Given the description of an element on the screen output the (x, y) to click on. 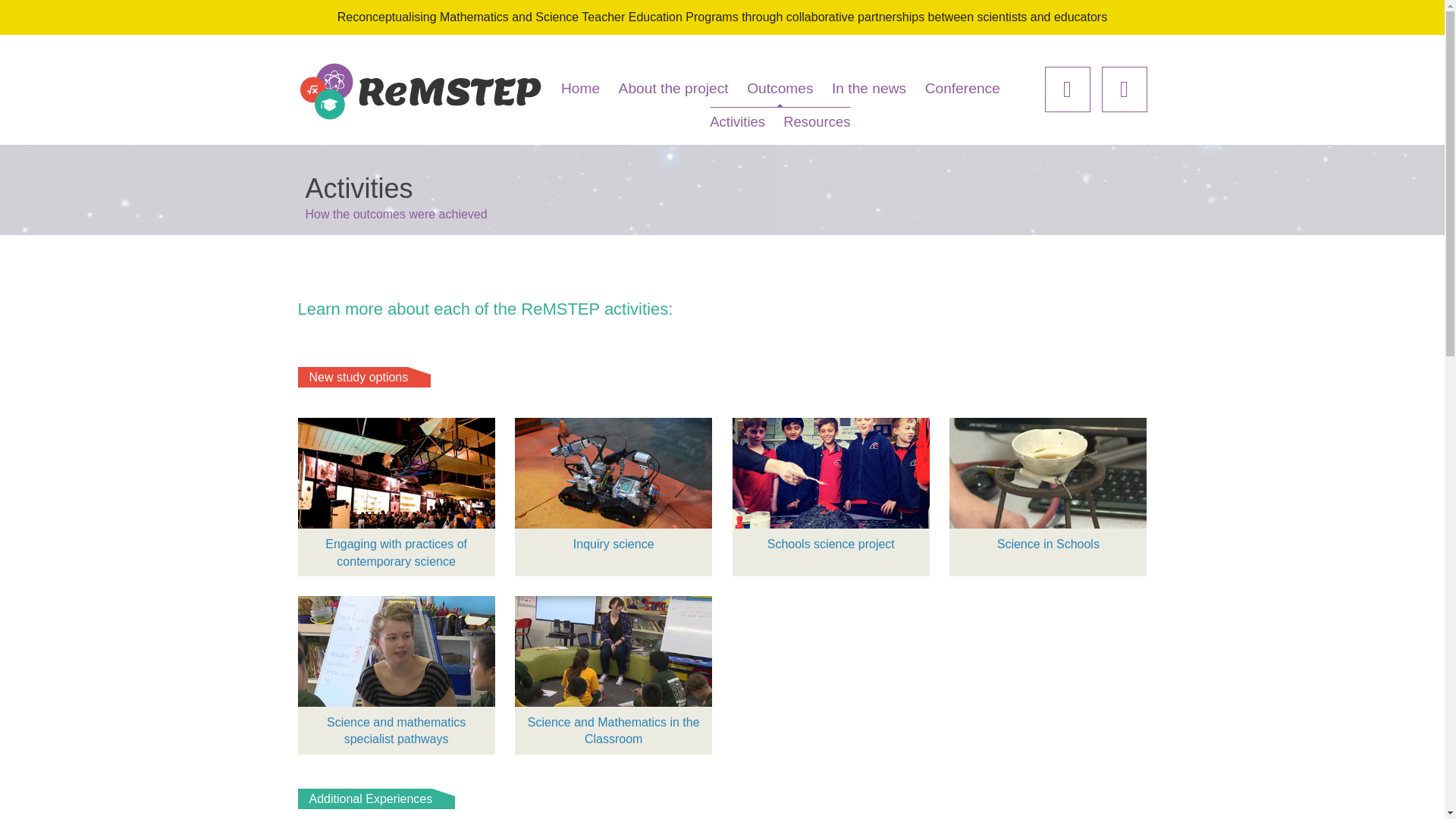
Science and Mathematics in the Classroom Element type: text (613, 675)
Outcomes Element type: text (779, 88)
Resources Element type: text (816, 121)
Conference Element type: text (962, 88)
Science and mathematics specialist pathways Element type: text (395, 675)
Twitter Element type: text (1067, 89)
Engaging with practices of contemporary science Element type: text (395, 496)
Home Element type: text (580, 88)
Inquiry science Element type: text (613, 488)
Activities Element type: text (737, 121)
In the news Element type: text (868, 88)
About the project Element type: text (673, 88)
Schools science project Element type: text (830, 488)
YouTube Element type: text (1123, 89)
Science in Schools Element type: text (1047, 488)
